Given the description of an element on the screen output the (x, y) to click on. 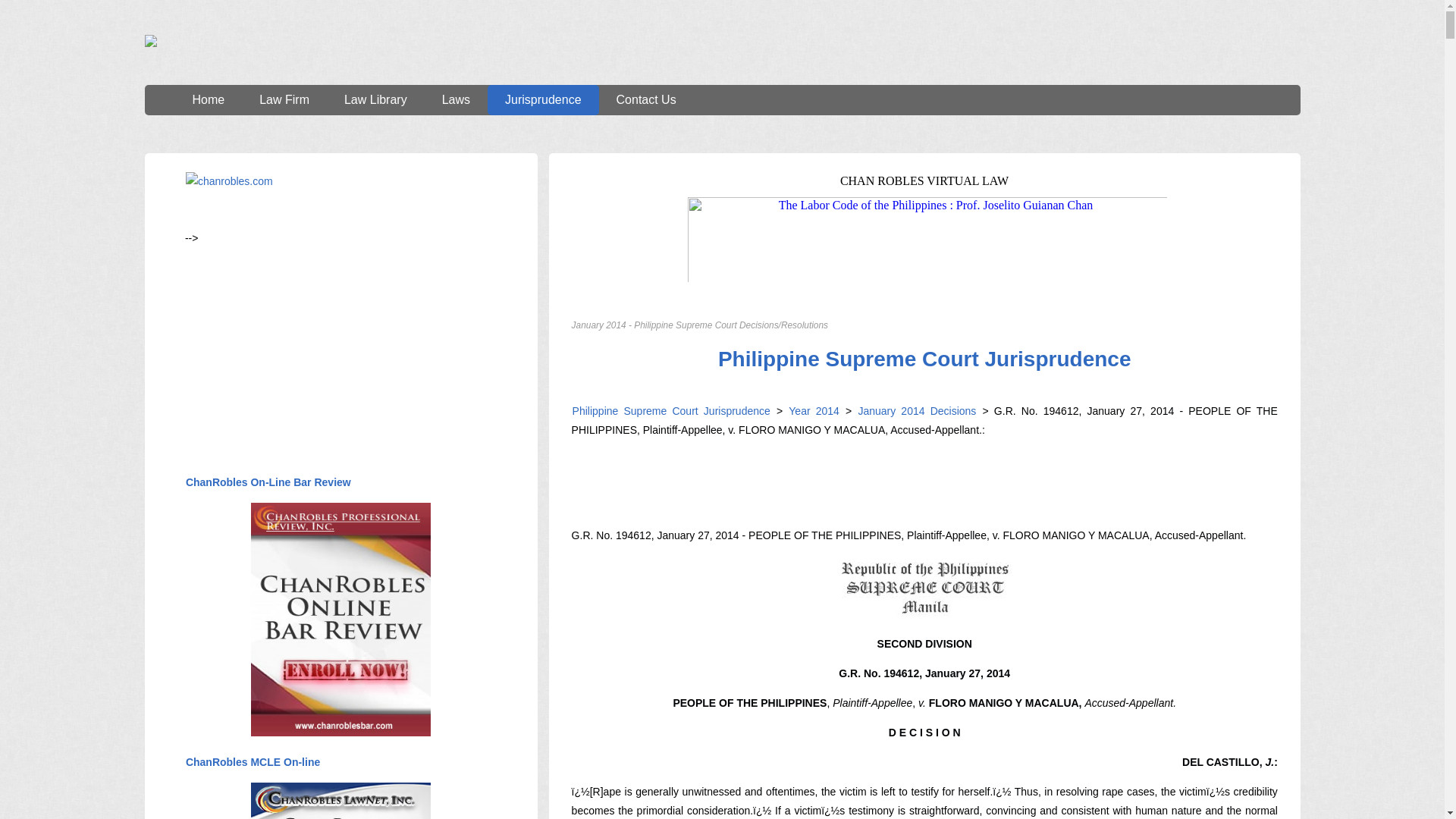
January 2014 Decisions (913, 410)
Contact Us (646, 100)
Home (207, 100)
ChanRobles MCLE On-line (252, 761)
Philippine Supreme Court Jurisprudence (924, 359)
Law Firm (283, 100)
Laws (456, 100)
Law Library (375, 100)
ChanRobles On-Line Bar Review (268, 481)
Philippine Supreme Court Jurisprudence (671, 410)
